Given the description of an element on the screen output the (x, y) to click on. 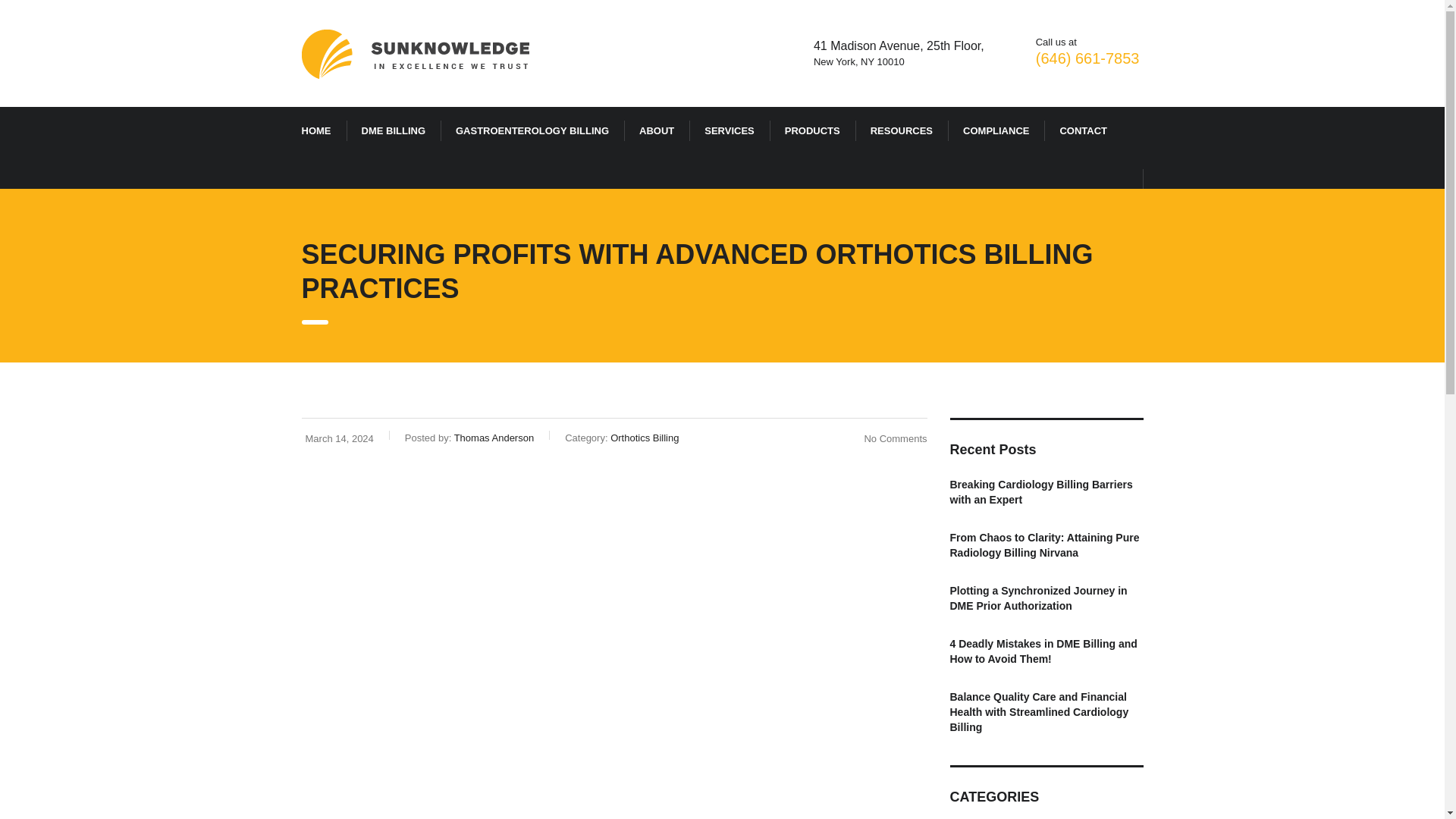
GASTROENTEROLOGY BILLING (532, 131)
ABOUT (656, 131)
SERVICES (729, 131)
HOME (316, 131)
DME BILLING (393, 131)
